Given the description of an element on the screen output the (x, y) to click on. 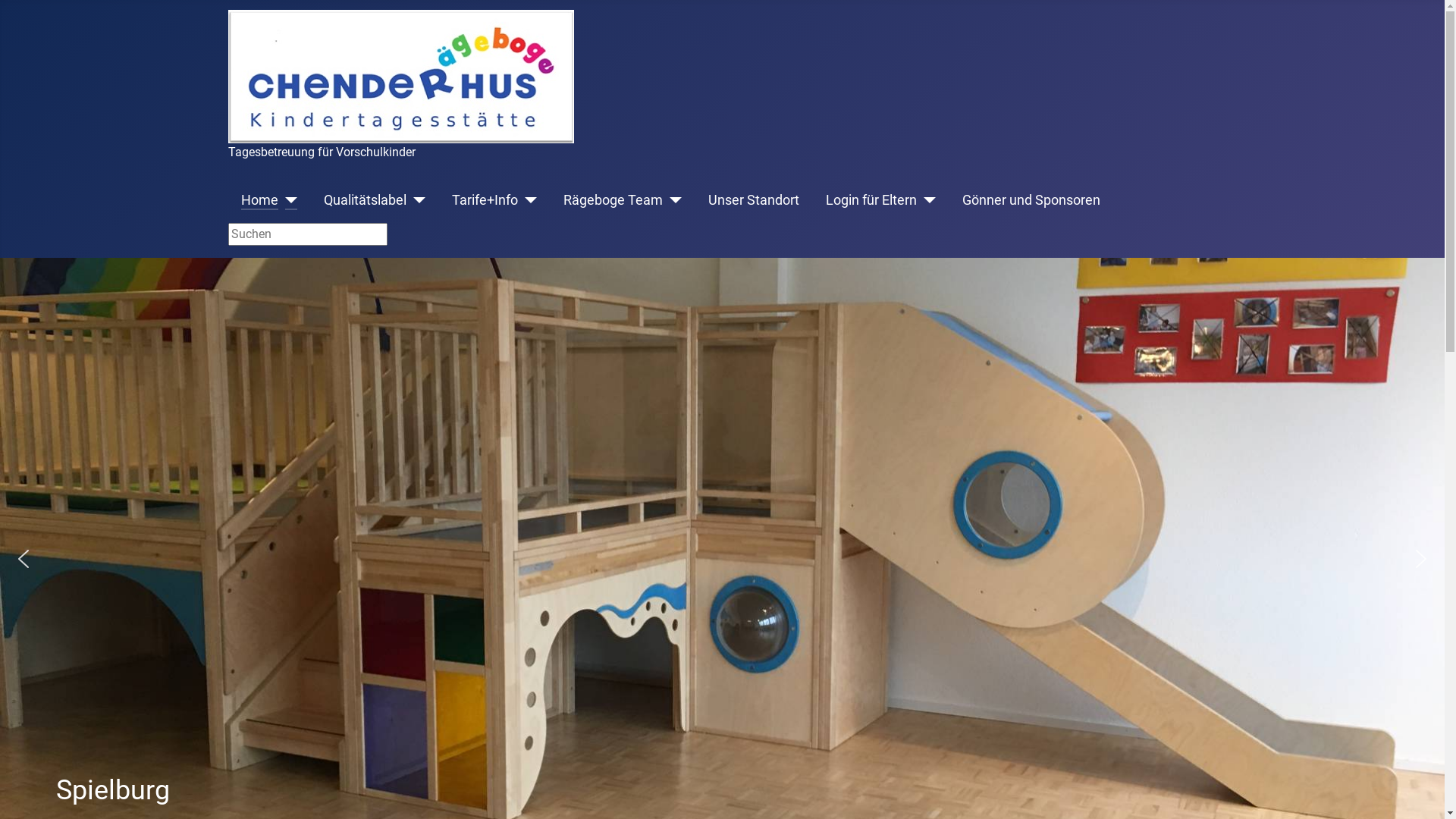
Tarife+Info Element type: text (484, 200)
Home Element type: text (259, 200)
Unser Standort Element type: text (753, 200)
